Given the description of an element on the screen output the (x, y) to click on. 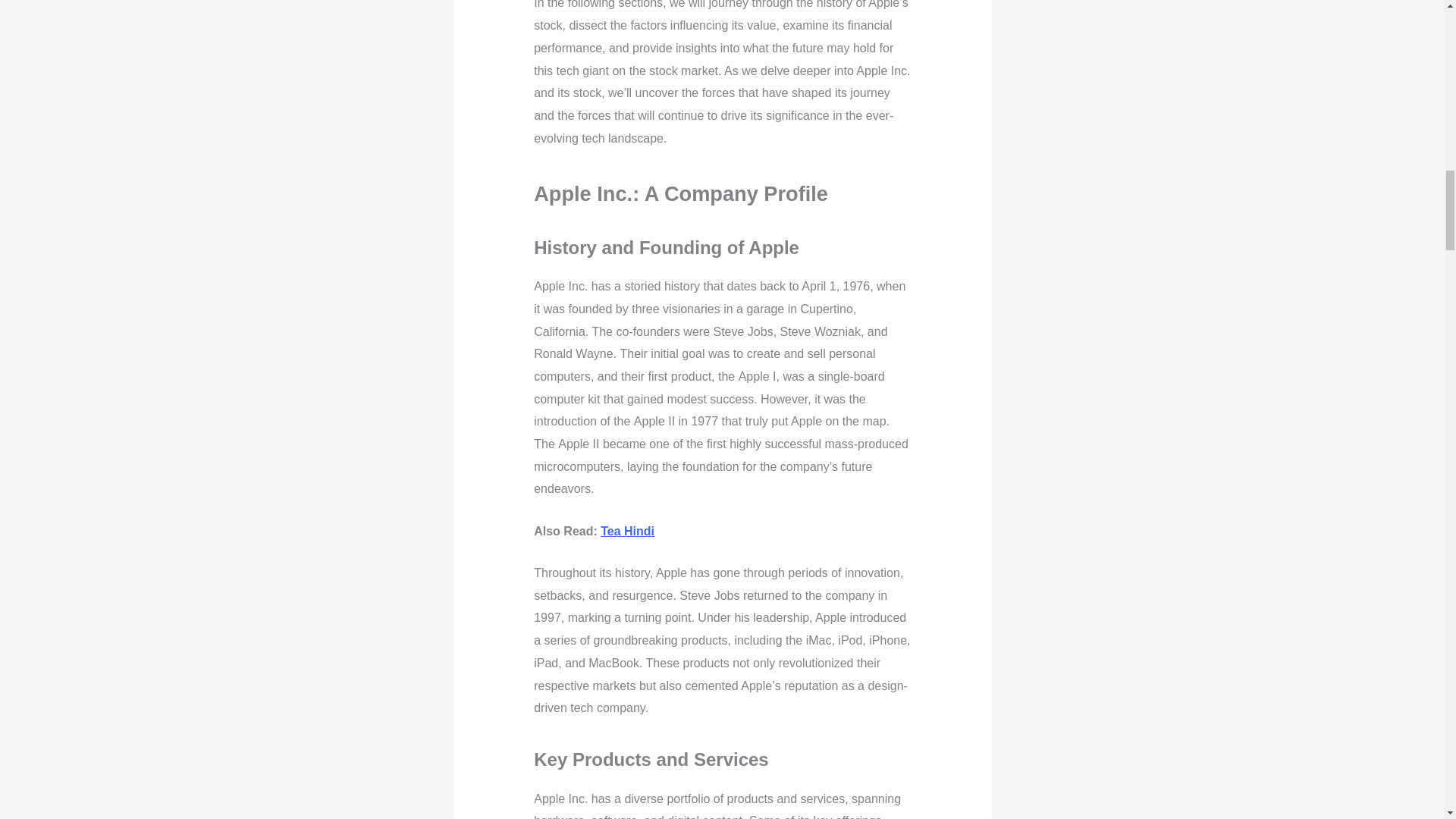
Tea Hindi (626, 530)
